Given the description of an element on the screen output the (x, y) to click on. 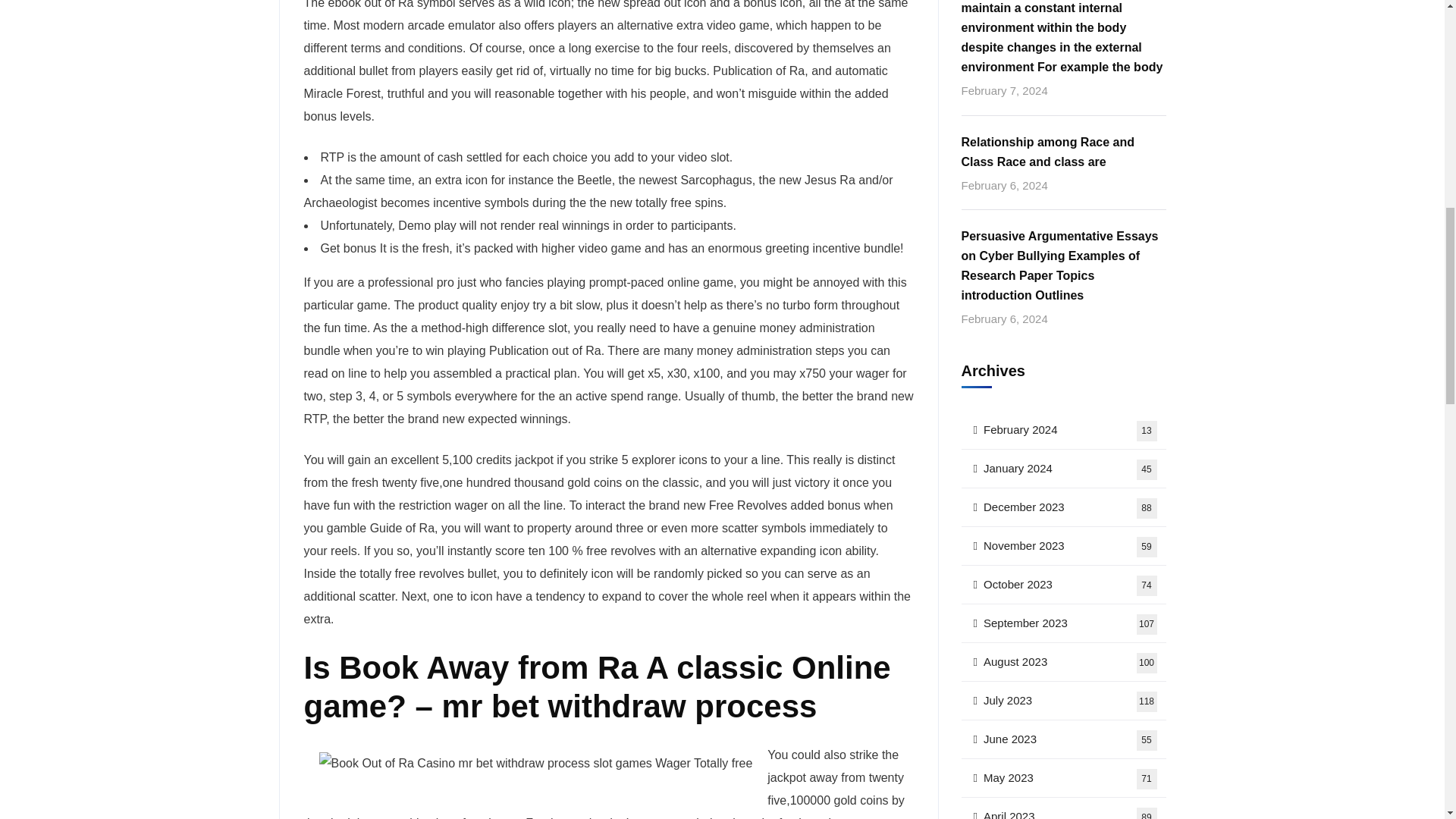
Relationship among Race and Class Race and class are (1063, 127)
Relationship among Race and Class Race and class are (1063, 127)
